Given the description of an element on the screen output the (x, y) to click on. 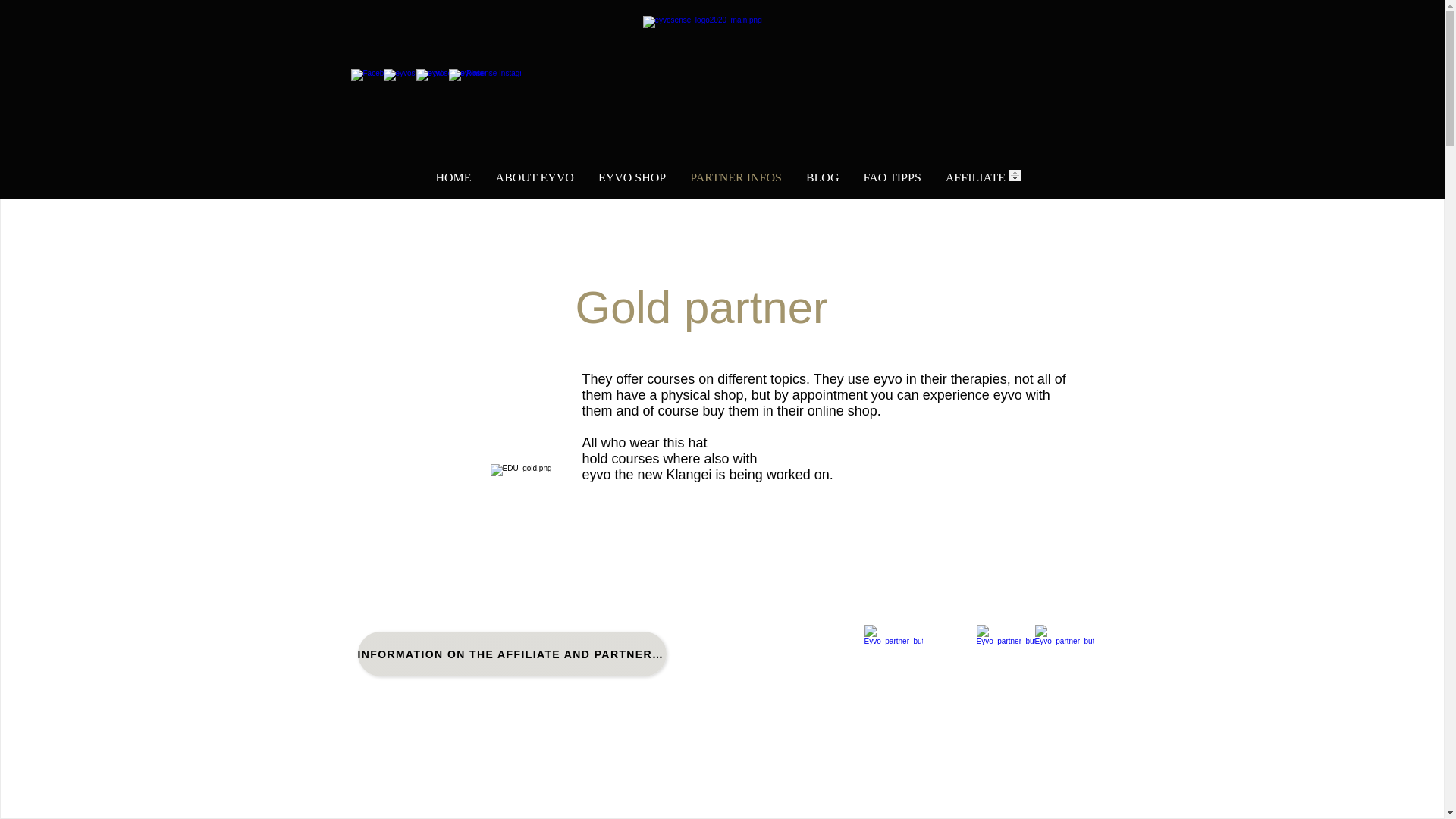
INFORMATION ON THE AFFILIATE AND PARTNER PROGRAM (512, 653)
AFFILIATE (975, 174)
HOME (453, 174)
BLOG (822, 174)
EYVO SHOP (632, 174)
FAQ TIPPS (891, 174)
ABOUT EYVO (534, 174)
PARTNER INFOS (735, 174)
